Given the description of an element on the screen output the (x, y) to click on. 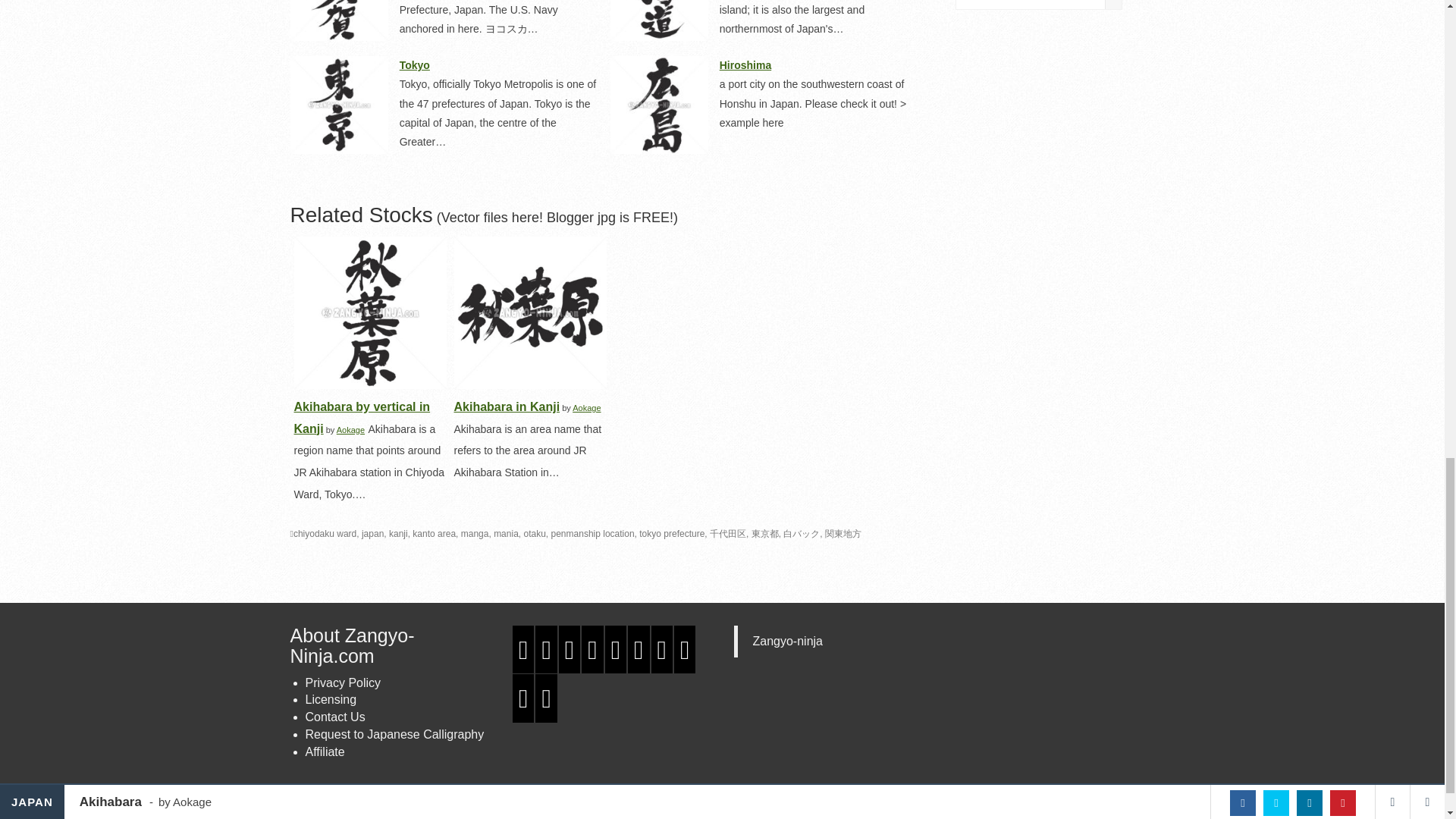
Akihabara in Kanji (528, 312)
Select Month (1038, 5)
Akihabara by vertical in Kanji (370, 312)
